Given the description of an element on the screen output the (x, y) to click on. 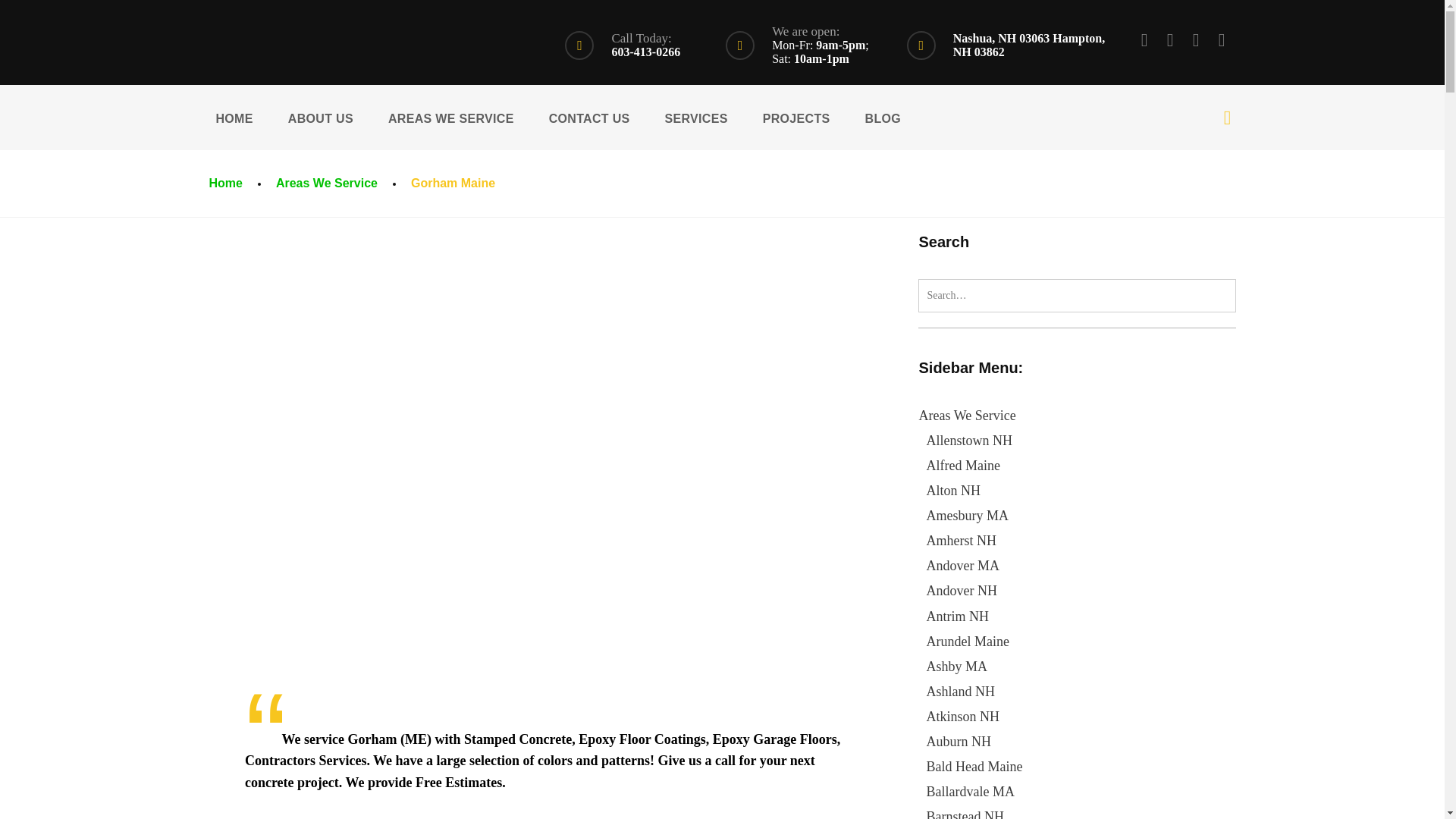
SERVICES (696, 117)
Allenstown NH (968, 440)
Areas We Service (966, 415)
Arundel Maine (967, 641)
Ashland NH (960, 691)
Ashby MA (956, 666)
Andover NH (960, 590)
ABOUT US (320, 117)
Barnstead NH (964, 814)
PROJECTS (796, 117)
